Given the description of an element on the screen output the (x, y) to click on. 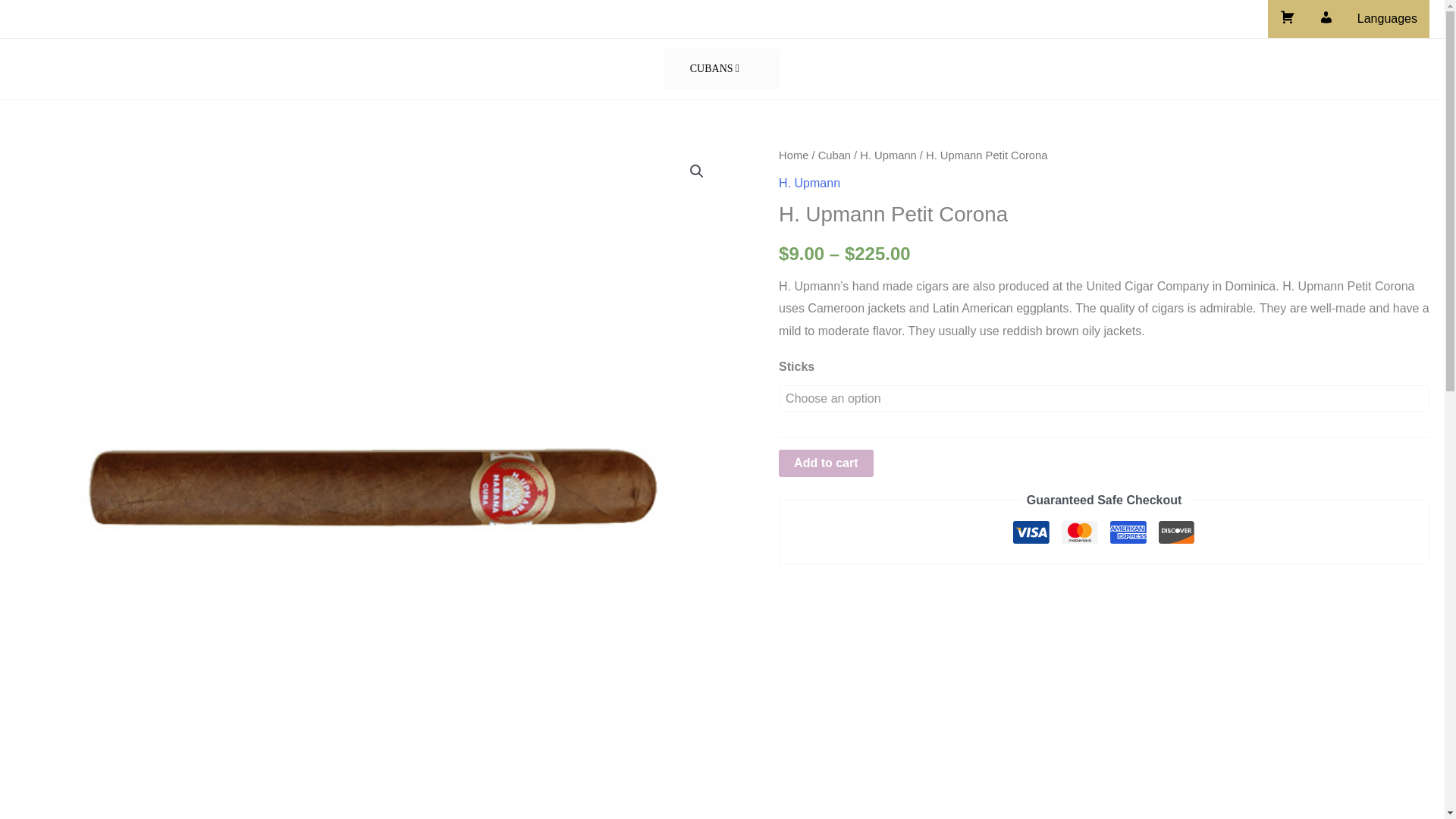
H. Upmann (809, 182)
H. Upmann (887, 155)
My account (1325, 18)
Cart (1287, 18)
Home (793, 155)
Languages (1387, 18)
CUBANS (714, 68)
Cuban (834, 155)
Add to cart (825, 462)
